Given the description of an element on the screen output the (x, y) to click on. 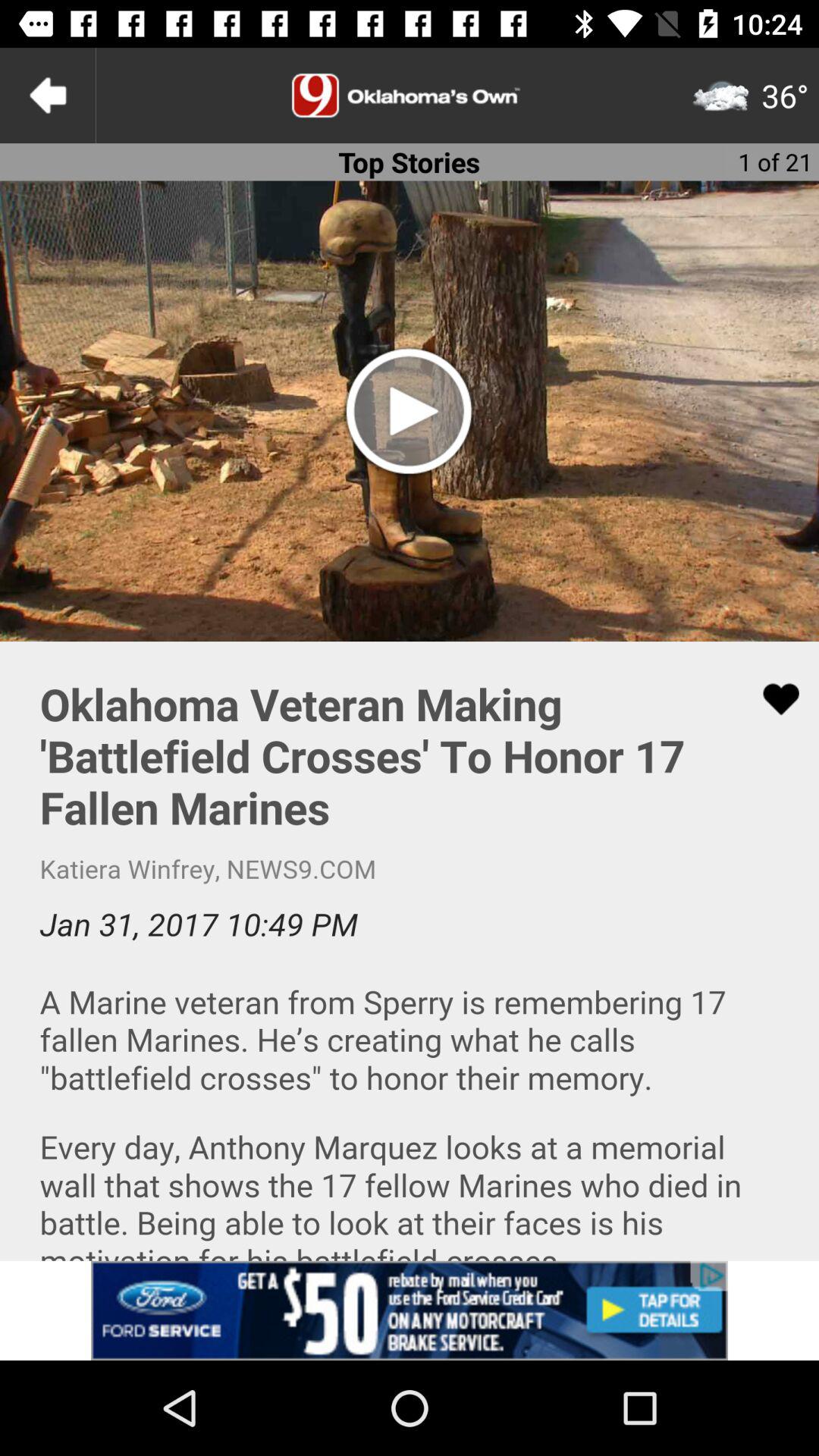
go to advertiser (409, 1310)
